Given the description of an element on the screen output the (x, y) to click on. 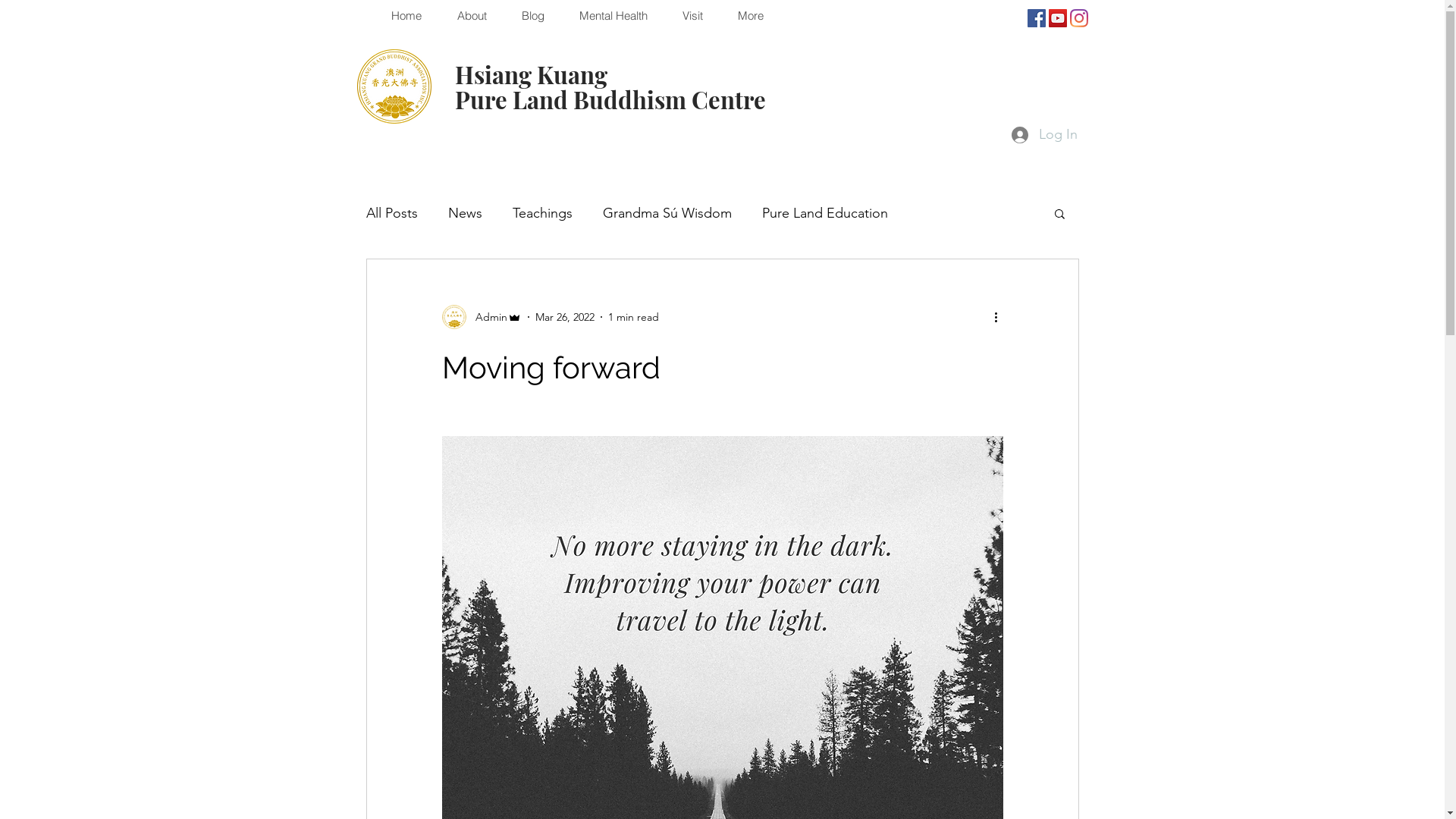
Admin Element type: text (480, 316)
All Posts Element type: text (391, 212)
News Element type: text (464, 212)
Mental Health Element type: text (612, 15)
Log In Element type: text (1044, 134)
Blog Element type: text (532, 15)
Pure Land Education Element type: text (824, 212)
About Element type: text (470, 15)
Visit Element type: text (691, 15)
Home Element type: text (405, 15)
Teachings Element type: text (542, 212)
